Given the description of an element on the screen output the (x, y) to click on. 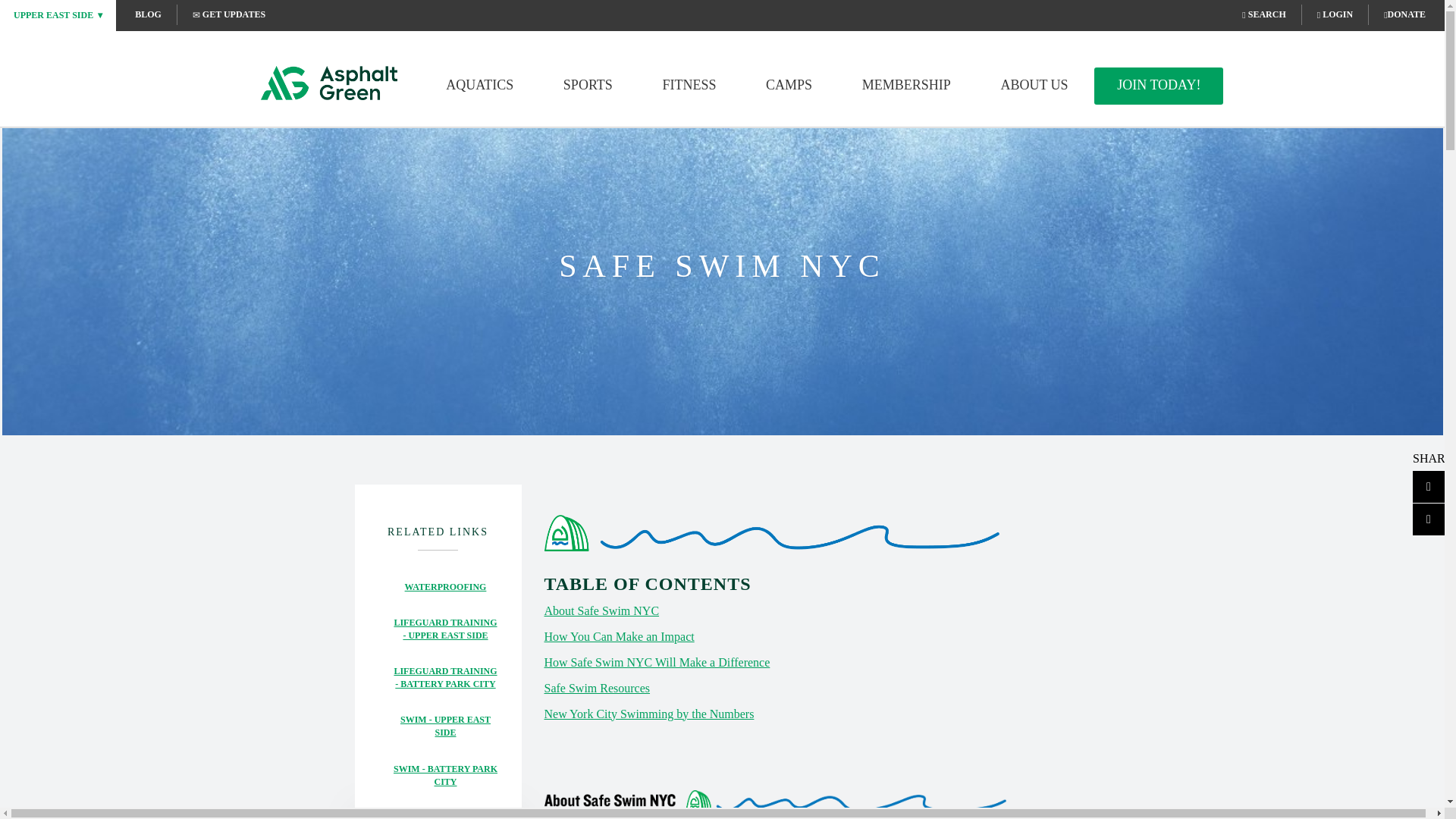
AQUATICS (479, 84)
BLOG (148, 14)
FITNESS (689, 84)
LOGIN (1334, 14)
GET UPDATES (228, 14)
SPORTS (587, 84)
CAMPS (788, 84)
DONATE (1404, 14)
